Given the description of an element on the screen output the (x, y) to click on. 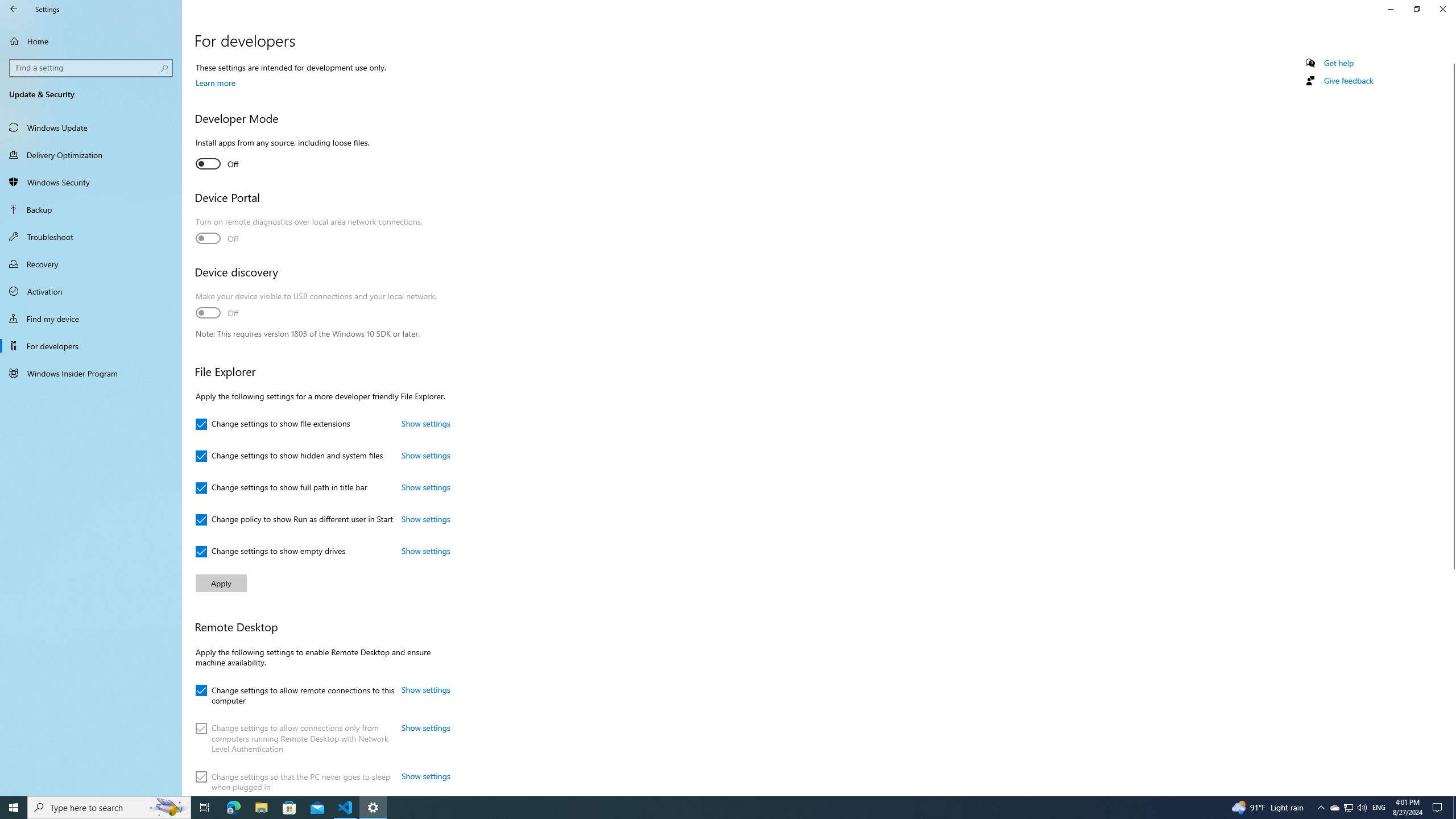
For developers (91, 345)
Find my device (91, 318)
Recovery (91, 263)
Give feedback (1348, 80)
Windows Update (91, 126)
Windows Security (91, 181)
Change policy to show Run as different user in Start (294, 520)
Learn more (215, 82)
